Given the description of an element on the screen output the (x, y) to click on. 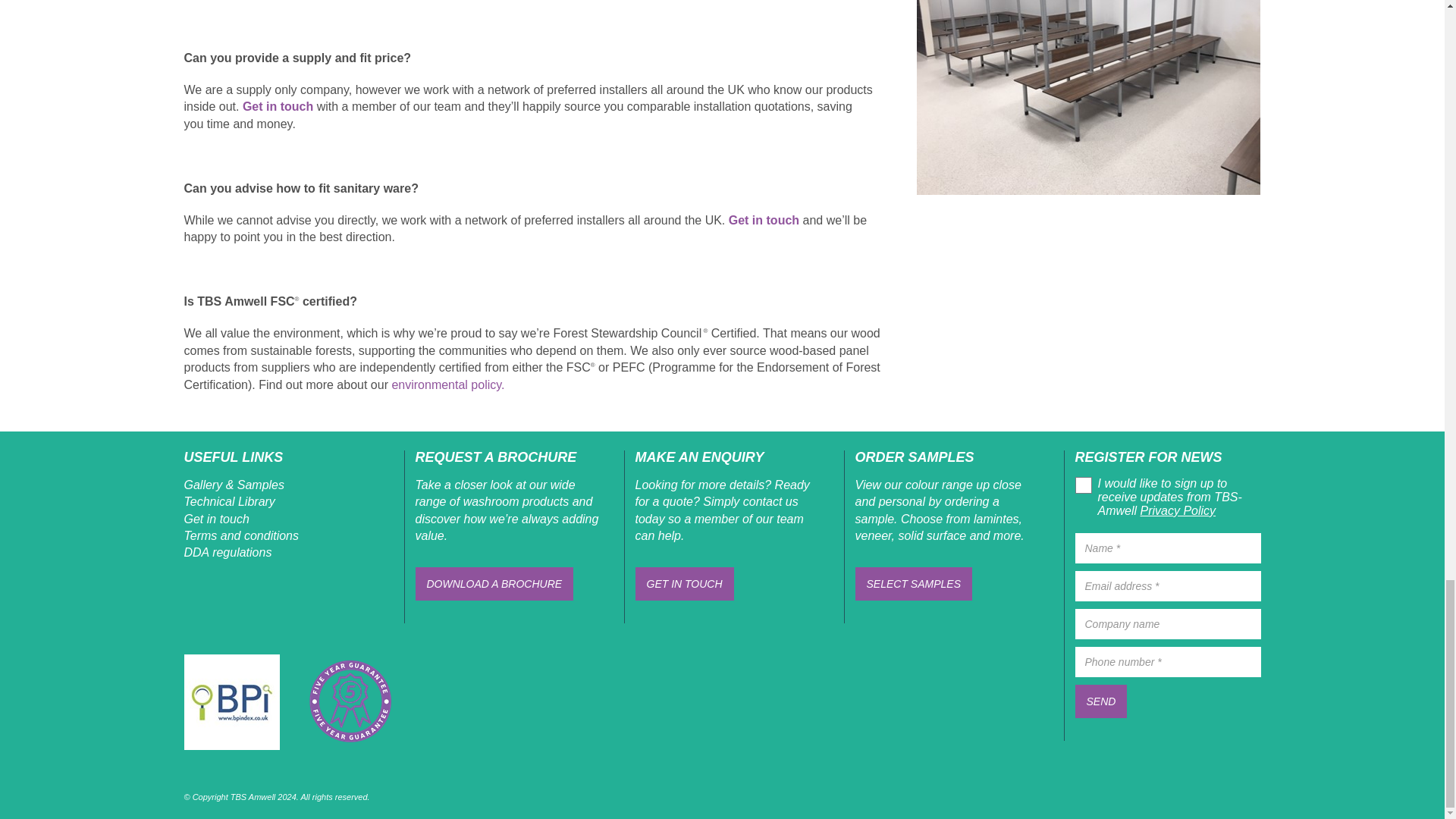
5 year guarantee (349, 701)
true (1079, 481)
Get in Touch (278, 106)
Environmental (447, 384)
BPi (231, 702)
Get in Touch (764, 219)
